Given the description of an element on the screen output the (x, y) to click on. 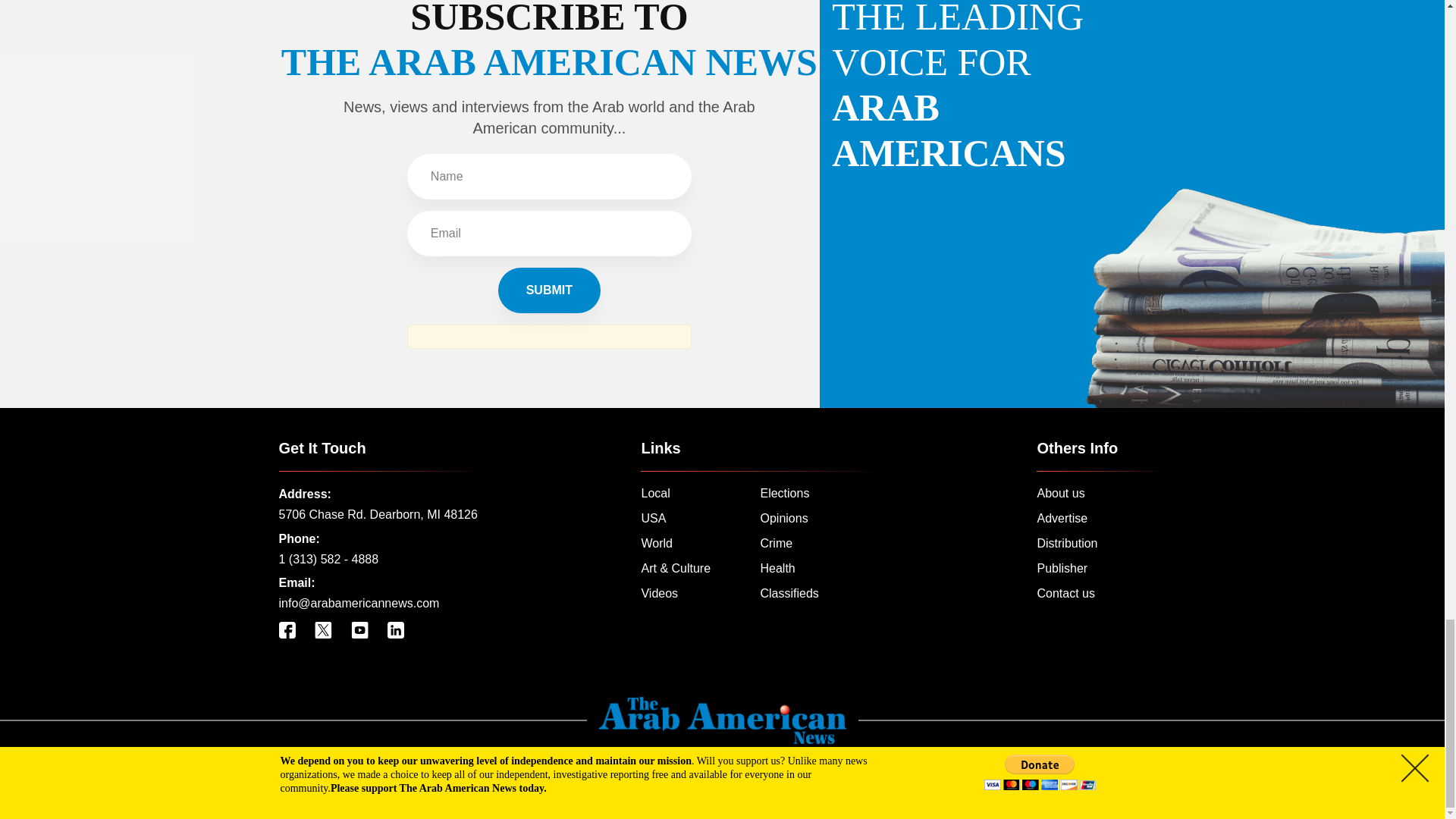
Submit (548, 289)
